Given the description of an element on the screen output the (x, y) to click on. 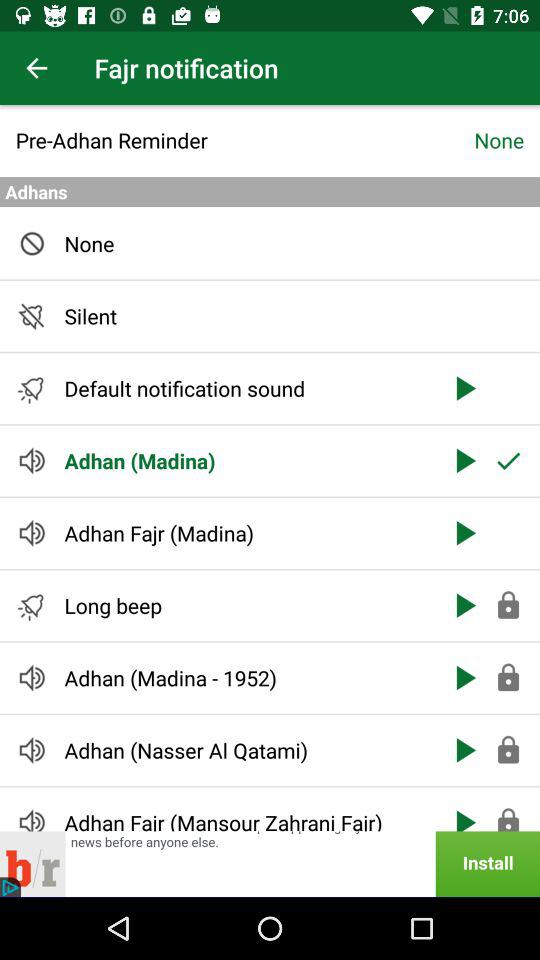
tap the item above default notification sound (245, 315)
